Given the description of an element on the screen output the (x, y) to click on. 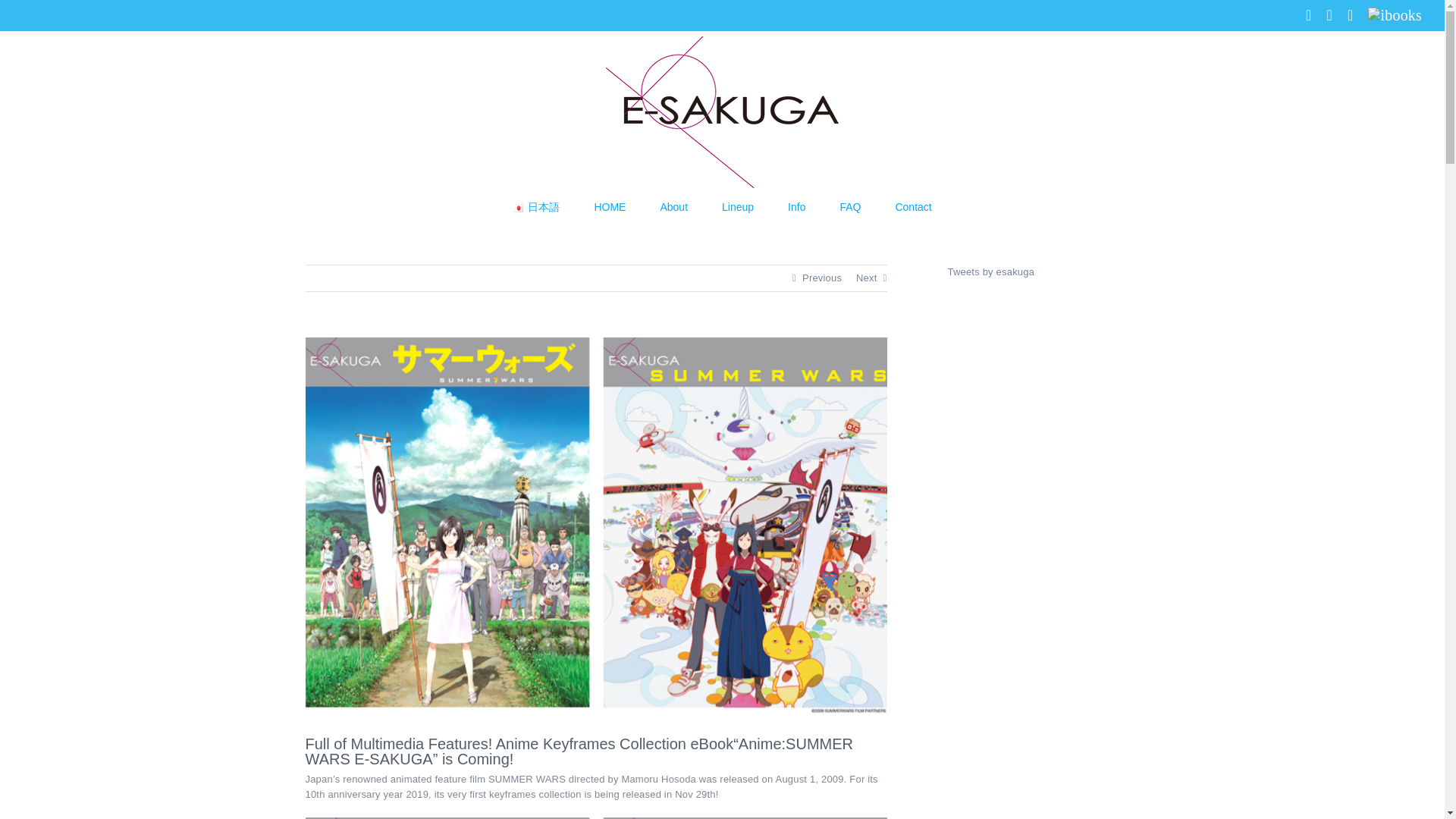
X (1329, 14)
Facebook (1308, 14)
HOME (609, 206)
YouTube (1351, 14)
Lineup (737, 206)
Ibooks (1395, 14)
About (673, 206)
